Given the description of an element on the screen output the (x, y) to click on. 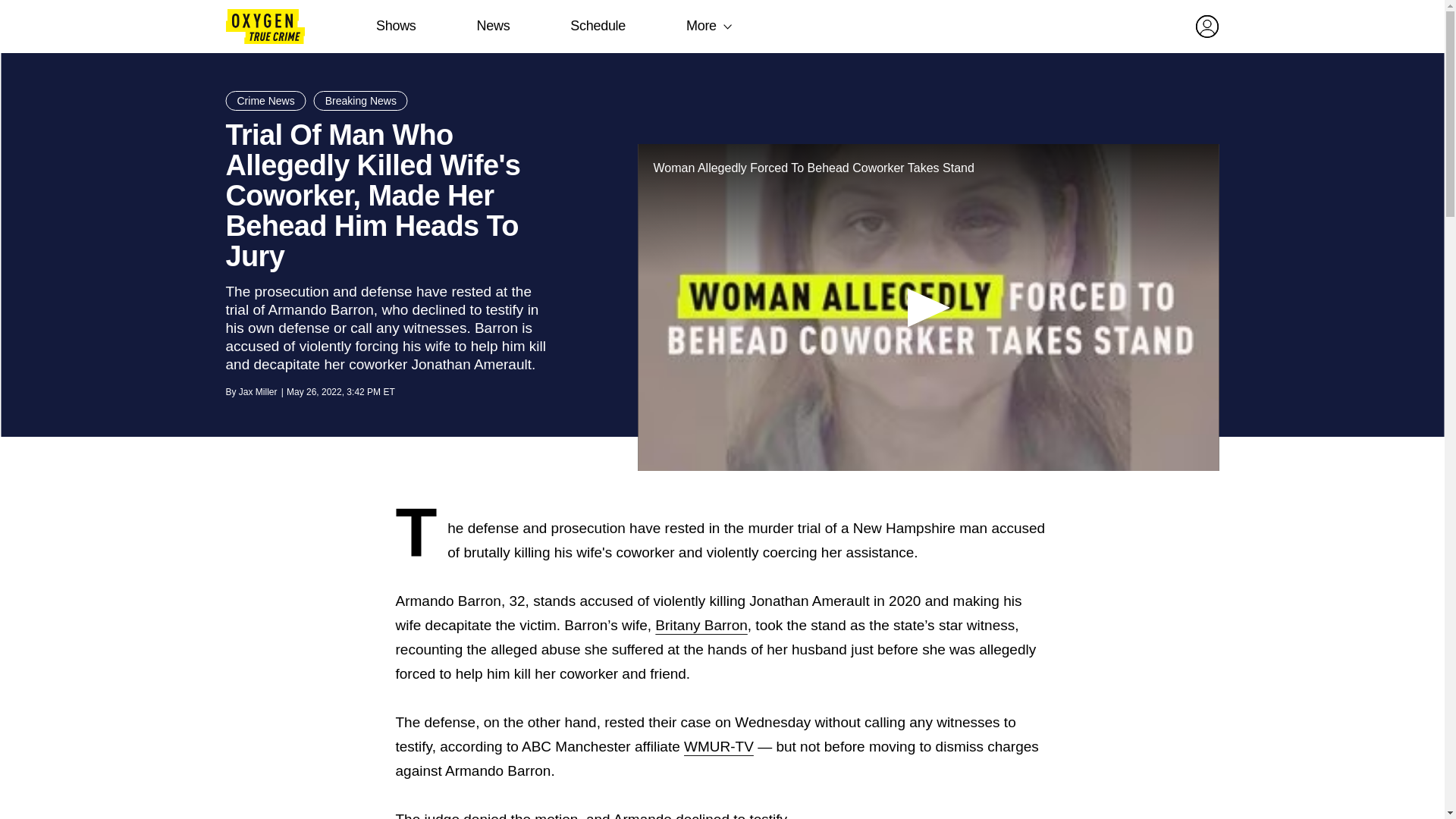
Crime News (265, 100)
Breaking News (360, 100)
Shows (395, 26)
Jax Miller (258, 391)
WMUR-TV (719, 746)
Britany Barron (700, 625)
News (492, 26)
More (700, 26)
Schedule (598, 26)
